Given the description of an element on the screen output the (x, y) to click on. 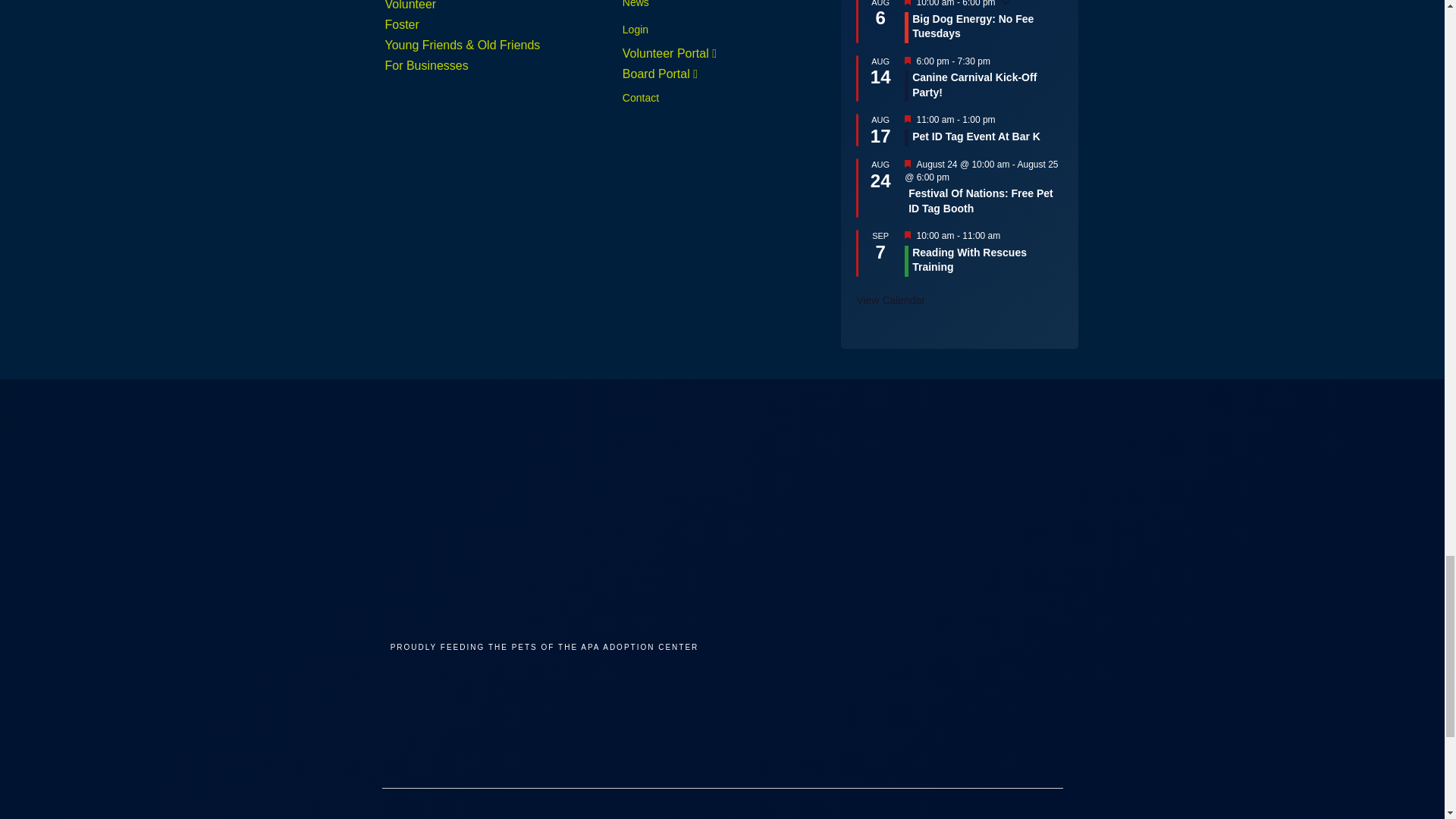
Recurring (1005, 2)
Featured (907, 163)
Featured (907, 4)
Featured (907, 119)
Featured (907, 118)
Featured (907, 164)
Featured (907, 61)
Featured (907, 2)
Featured (907, 60)
Featured (907, 234)
Canine Carnival Kick-Off Party! (974, 85)
Festival of Nations: Free Pet ID Tag Booth (980, 201)
Recurring (1005, 4)
Big Dog Energy: No Fee Tuesdays (972, 26)
Pet ID Tag Event at Bar K (976, 136)
